Given the description of an element on the screen output the (x, y) to click on. 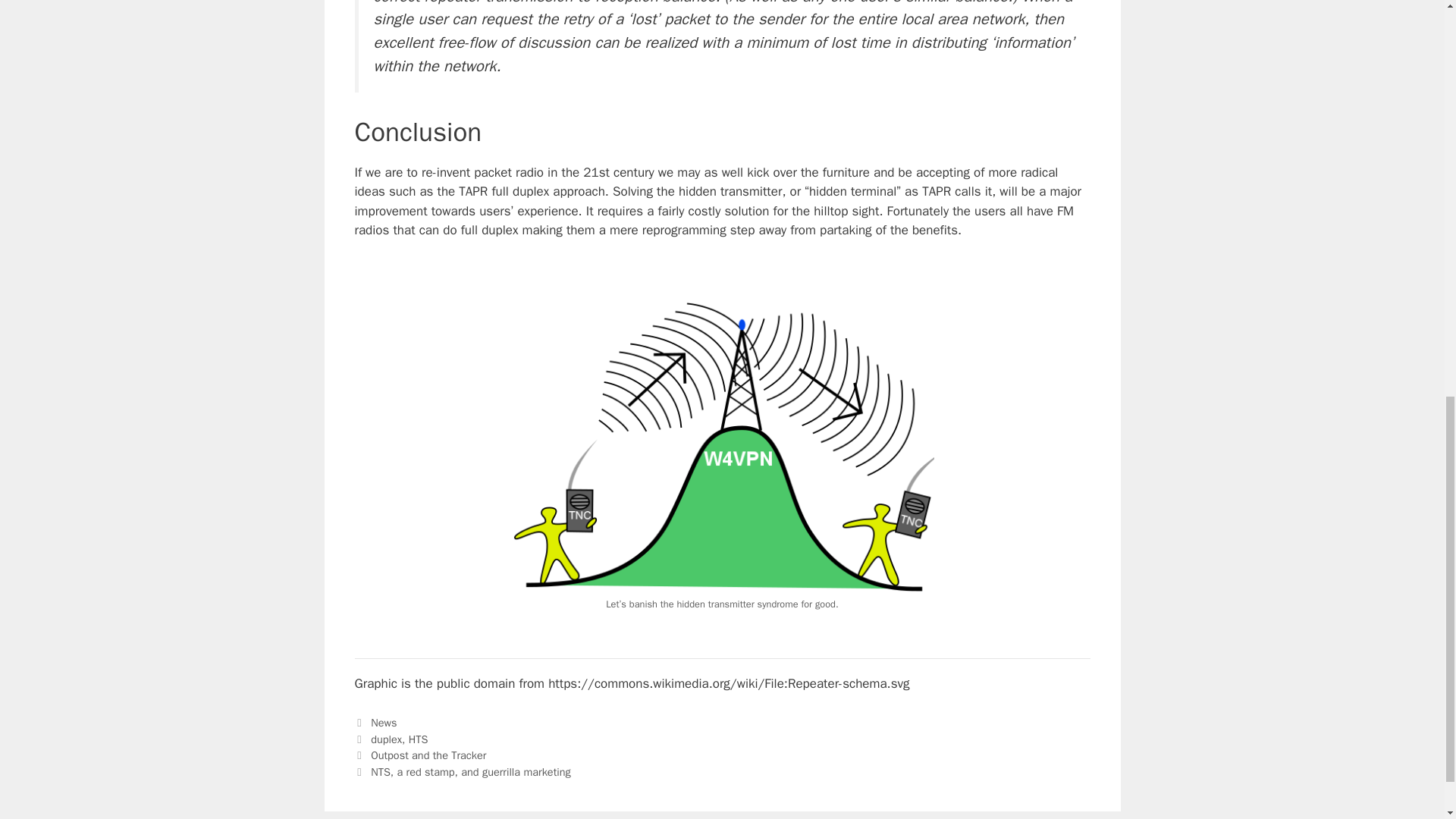
News (383, 722)
Outpost and the Tracker (428, 755)
Let's banish the hidden transmitter syndrome for good. (722, 445)
HTS (418, 739)
NTS, a red stamp, and guerrilla marketing (470, 771)
duplex (386, 739)
Scroll back to top (1406, 720)
